Given the description of an element on the screen output the (x, y) to click on. 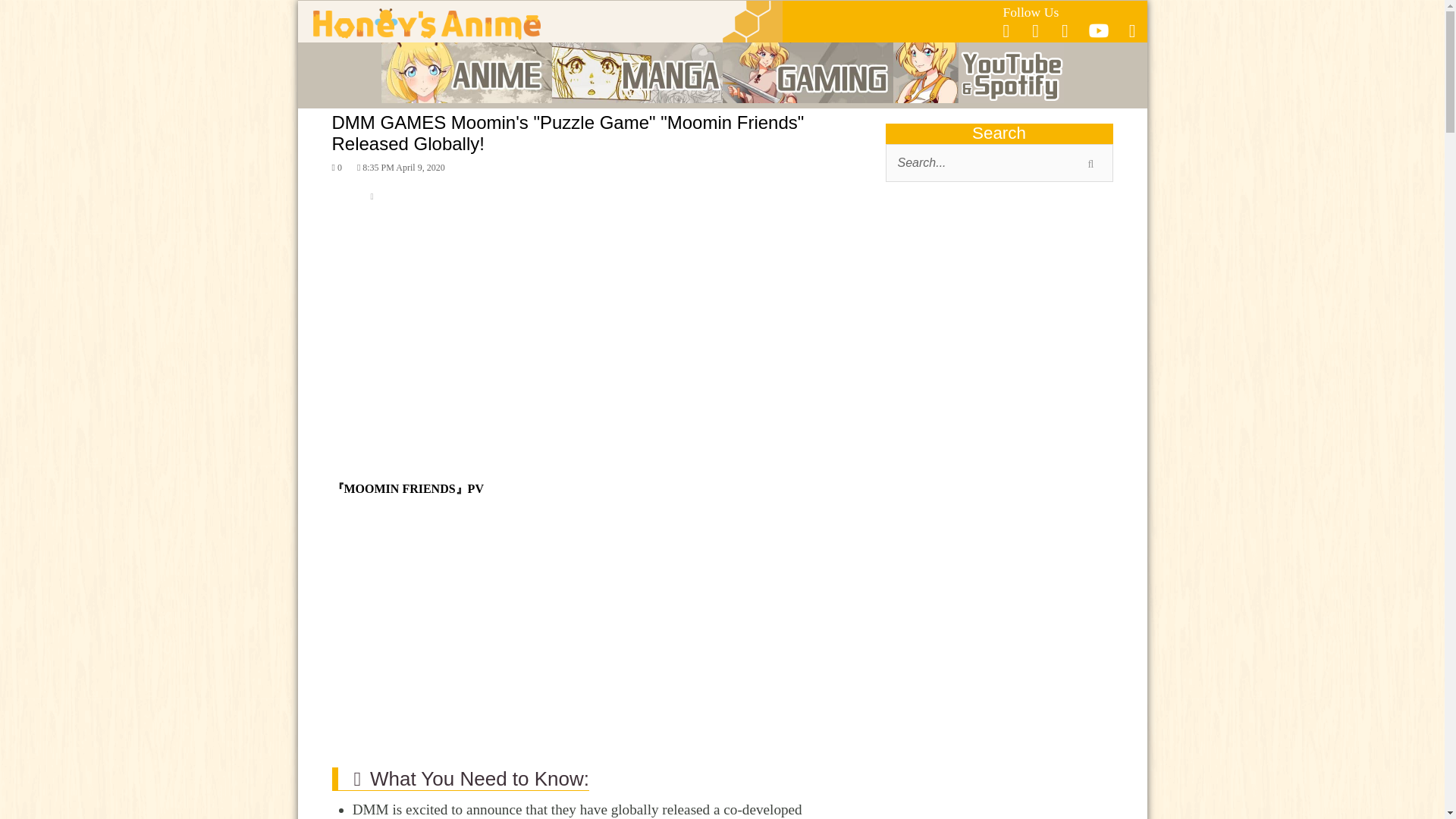
Our Youtube (1098, 35)
Advertisement (999, 313)
Search... (999, 162)
banner-honeyfeed-malcontest (999, 765)
Search... (999, 162)
